Given the description of an element on the screen output the (x, y) to click on. 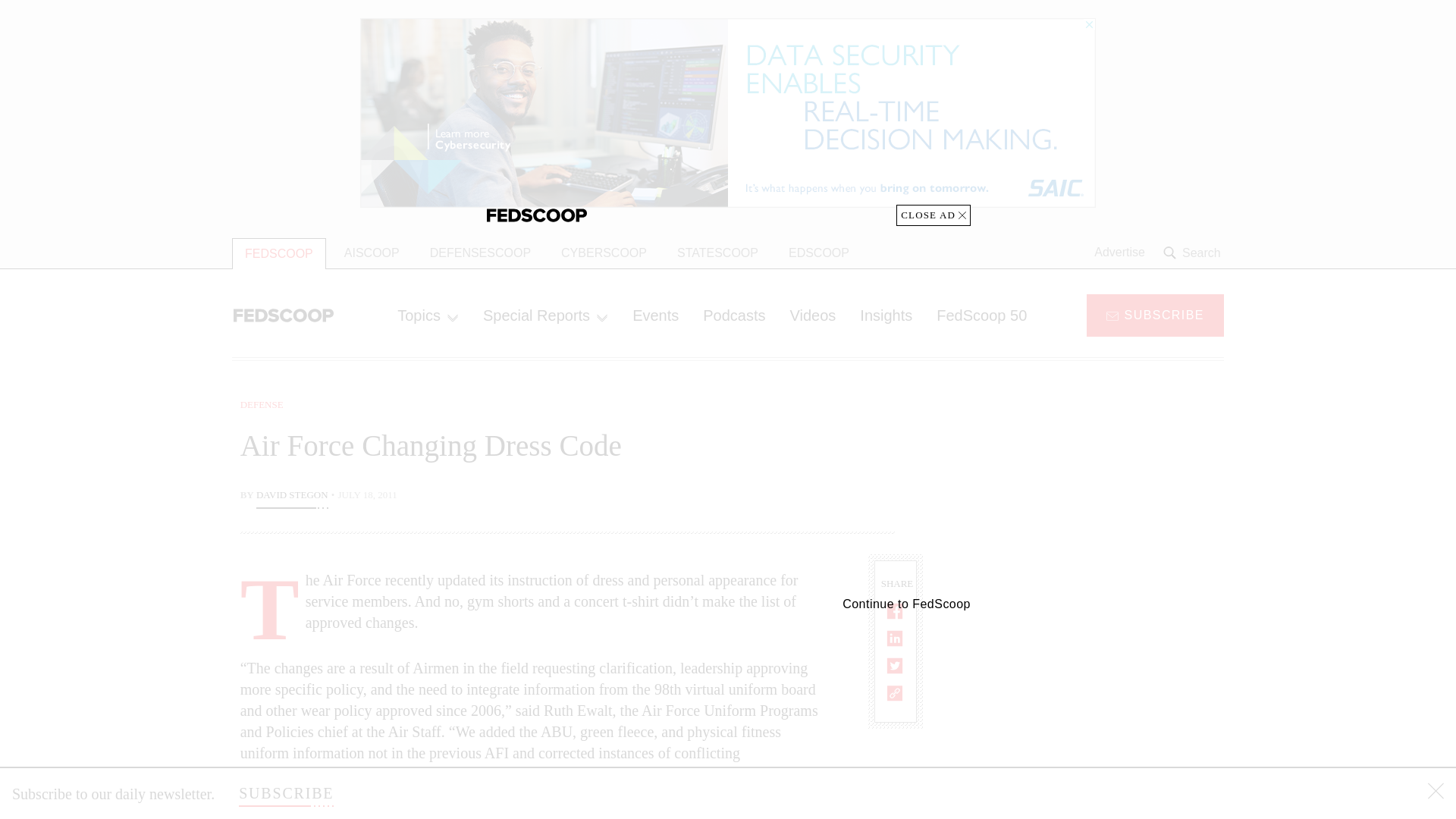
Insights (885, 315)
3rd party ad content (1101, 492)
DEFENSESCOOP (480, 253)
Search (1193, 252)
FedScoop 50 (981, 315)
Events (655, 315)
3rd party ad content (1101, 706)
David Stegon (292, 496)
AISCOOP (371, 253)
FEDSCOOP (278, 253)
Videos (812, 315)
Topics (427, 315)
